Given the description of an element on the screen output the (x, y) to click on. 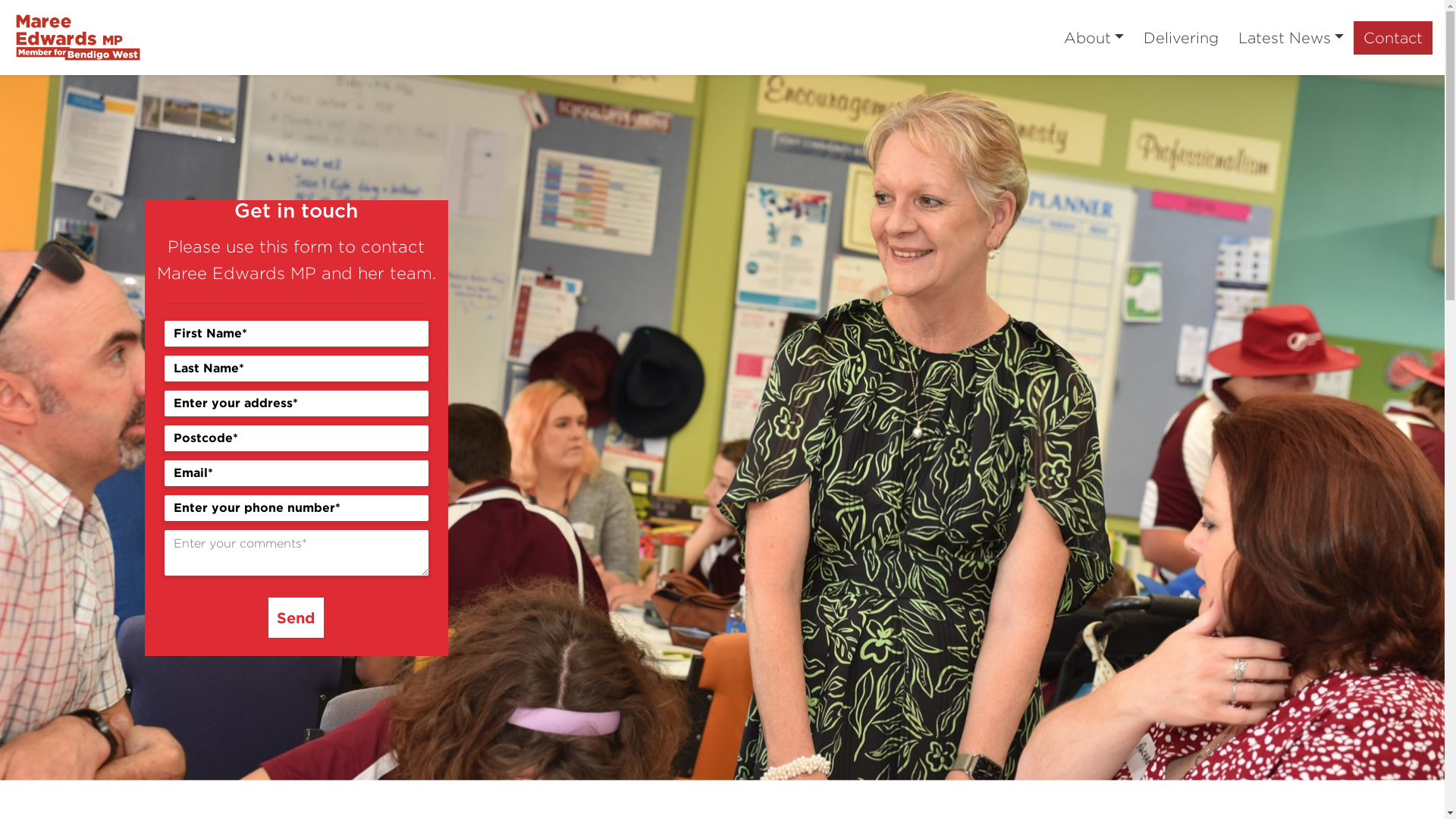
Previous Element type: text (108, 427)
Send Element type: text (295, 617)
Next Element type: text (1335, 427)
Contact Element type: text (1392, 37)
Delivering Element type: text (1180, 37)
Latest News Element type: text (1290, 37)
About Element type: text (1093, 37)
